Given the description of an element on the screen output the (x, y) to click on. 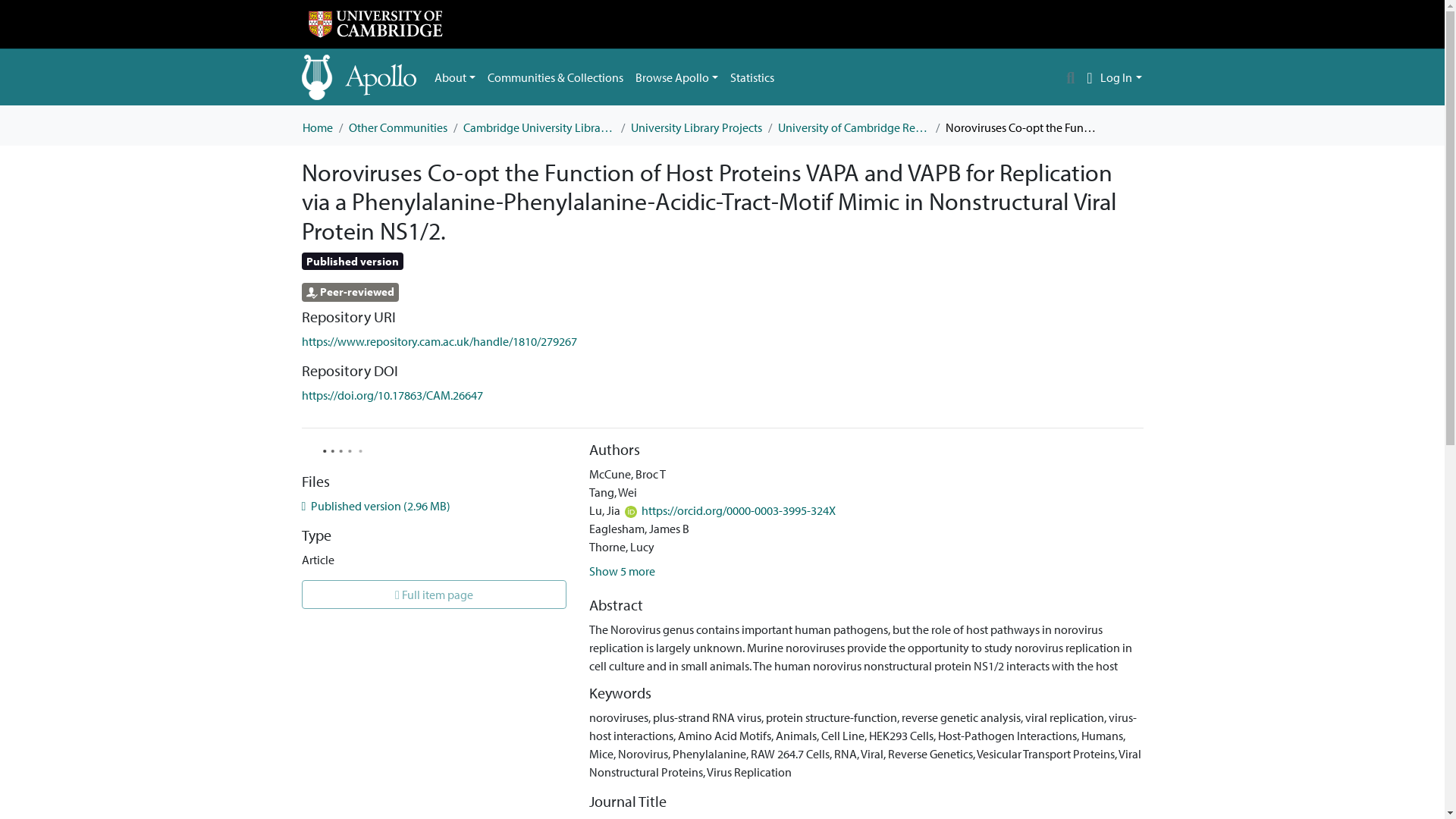
Search (1070, 76)
Statistics (751, 77)
Full item page (434, 594)
University Library Projects (695, 126)
About (454, 77)
Home (316, 126)
Other Communities (397, 126)
Statistics (751, 77)
Cambridge University Libraries (538, 126)
Browse Apollo (675, 77)
